Given the description of an element on the screen output the (x, y) to click on. 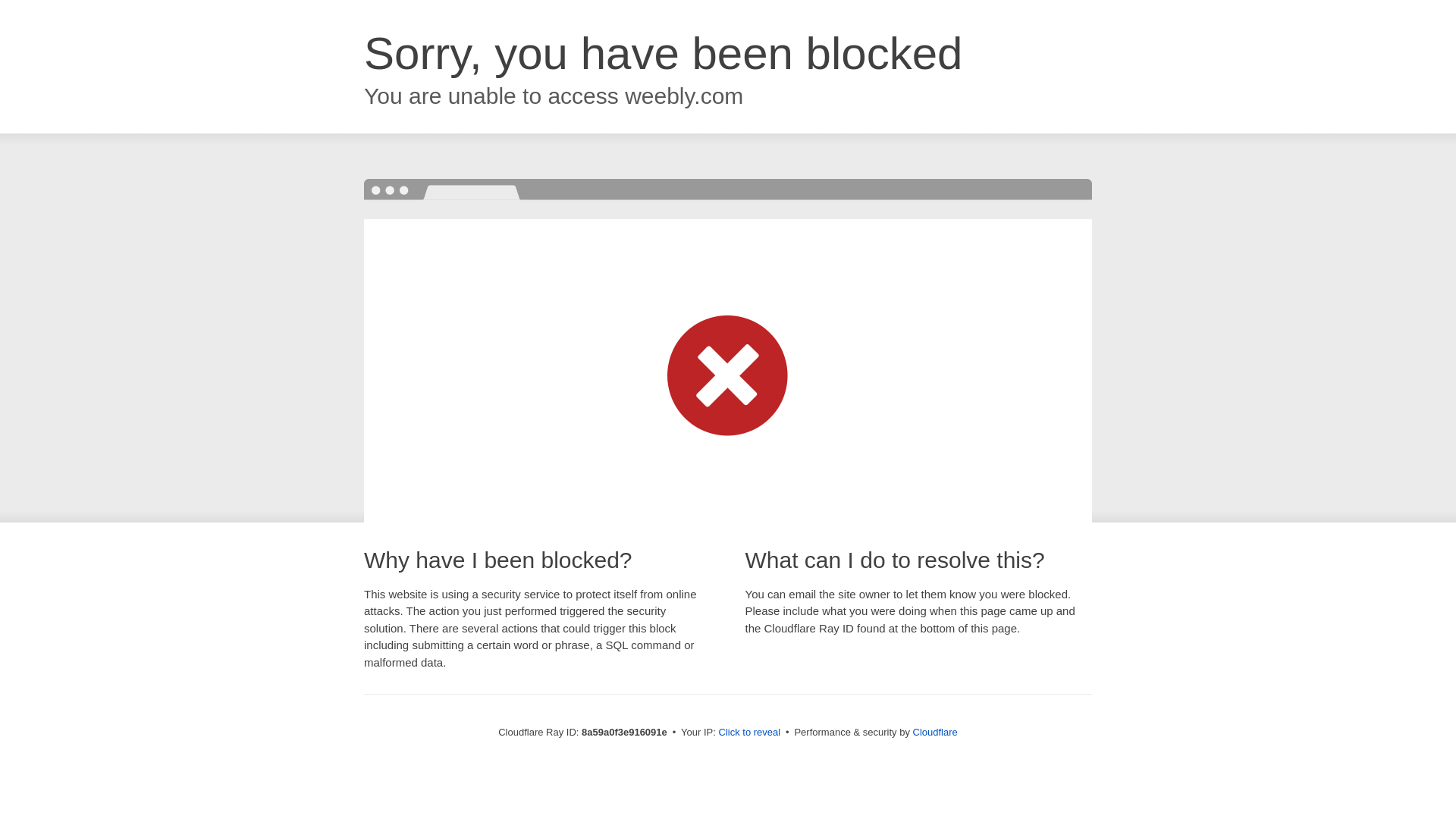
Cloudflare (935, 731)
Click to reveal (749, 732)
